Given the description of an element on the screen output the (x, y) to click on. 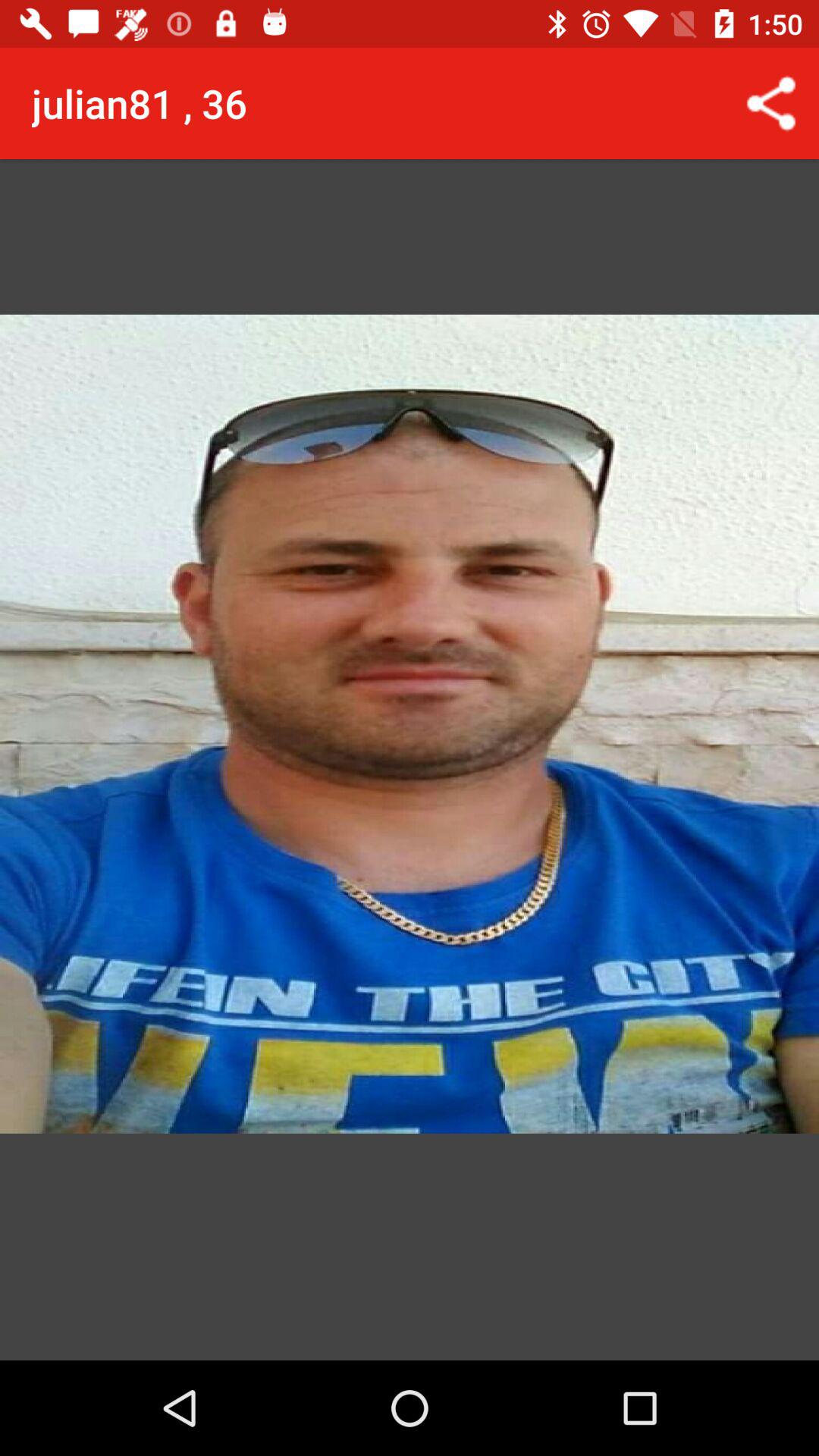
turn off the icon at the center (409, 703)
